Given the description of an element on the screen output the (x, y) to click on. 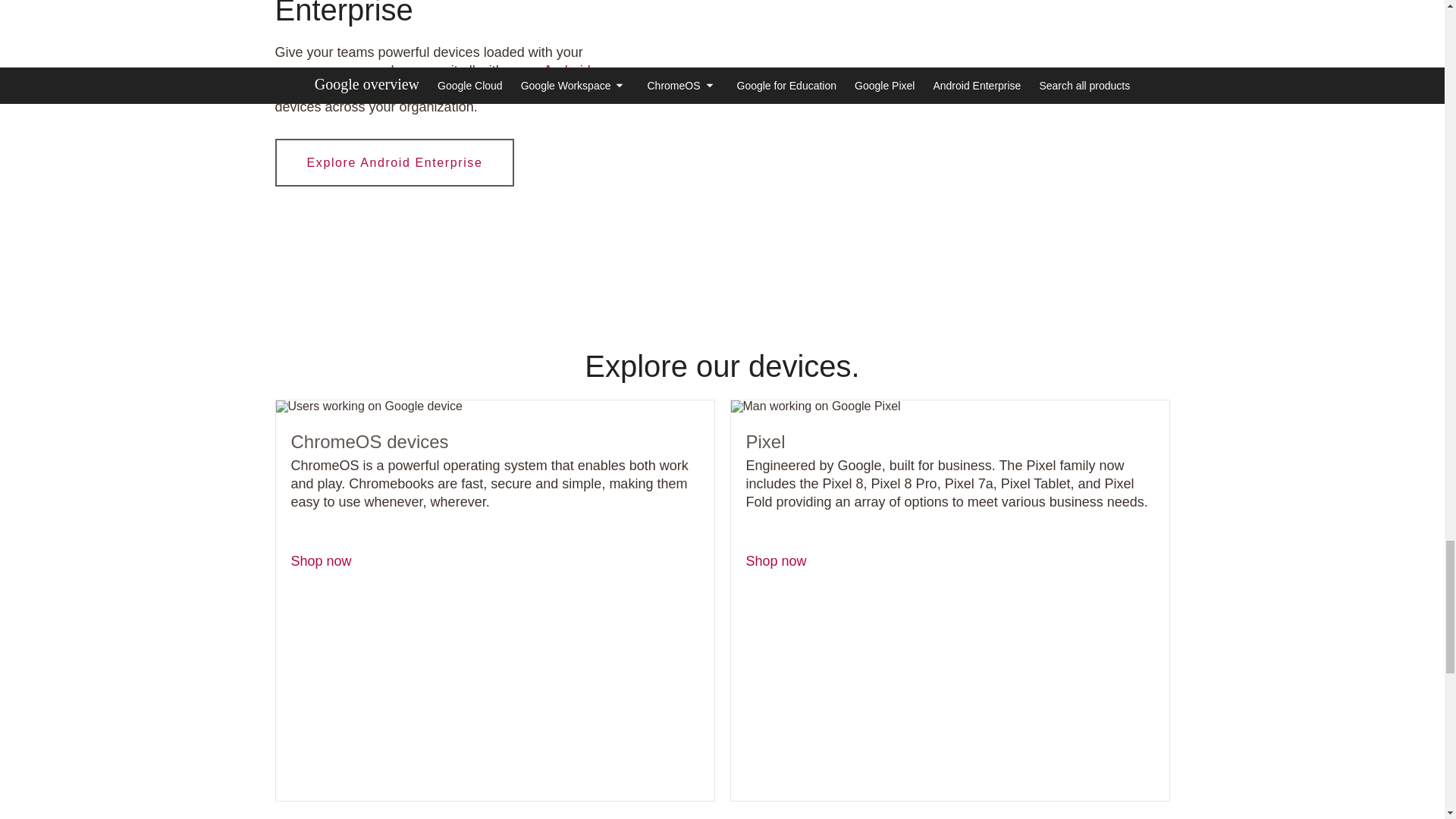
Explore Android Enterprise (395, 162)
Shop now (775, 560)
Shop now (321, 560)
Android Enterprise (433, 79)
